Given the description of an element on the screen output the (x, y) to click on. 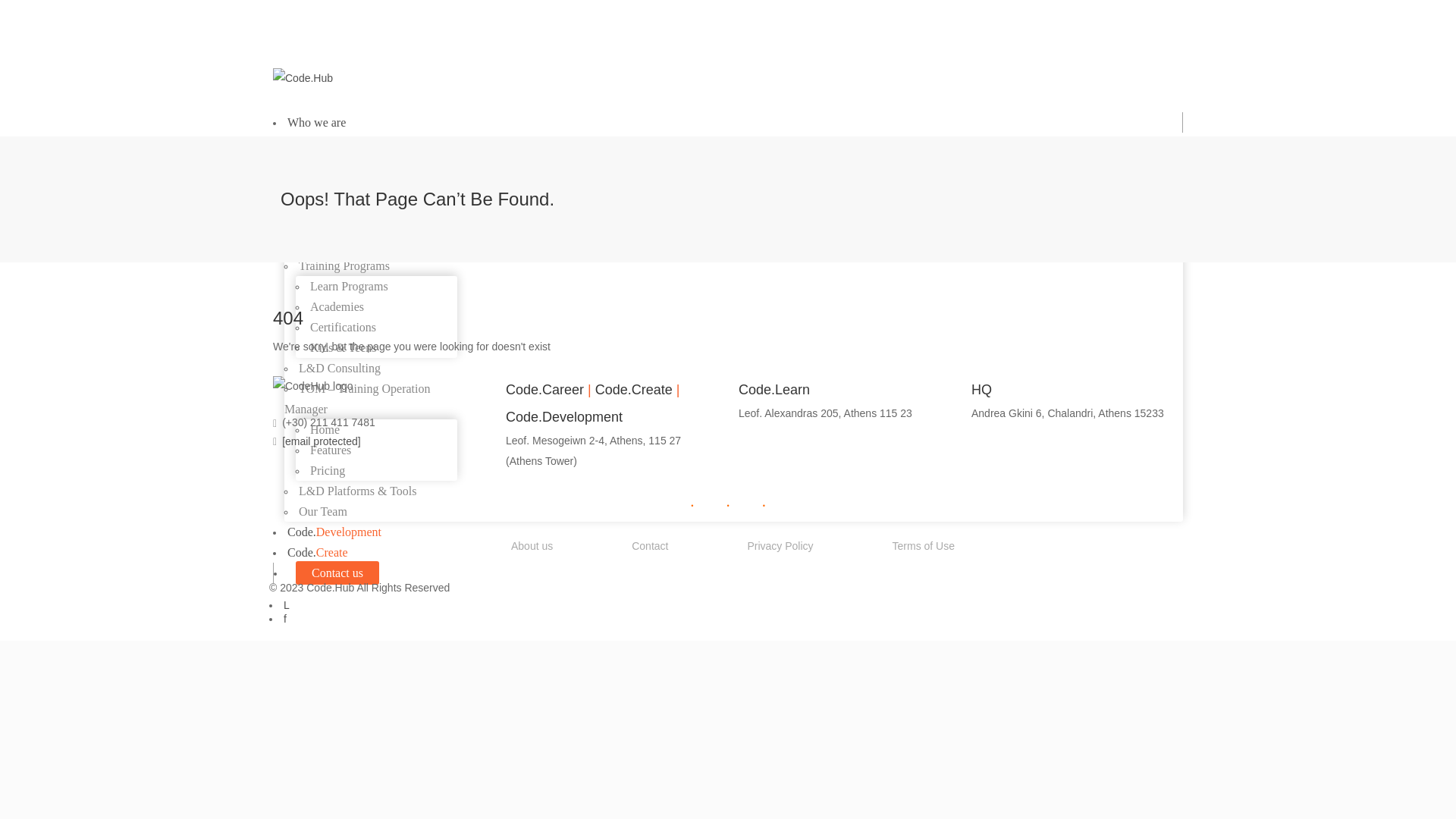
Pricing (327, 470)
Learn Programs (349, 285)
Home (324, 429)
About us (526, 549)
Code.Create (316, 552)
Training Programs (344, 265)
Code.Career (316, 142)
Certifications (342, 326)
Our Team (322, 511)
Internships (325, 204)
